Given the description of an element on the screen output the (x, y) to click on. 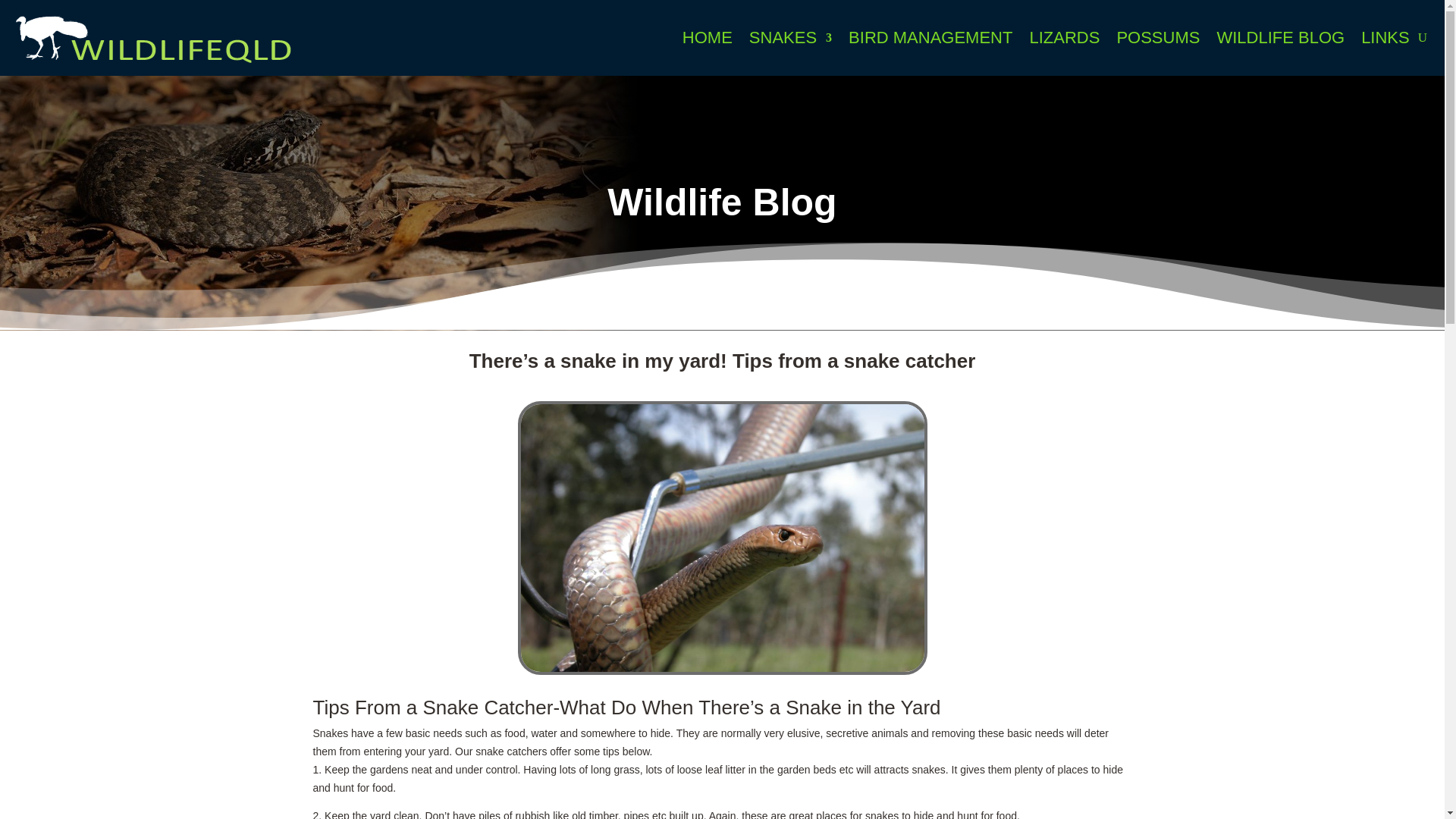
SNAKES (790, 38)
POSSUMS (1157, 38)
Eastern Brown Taken At Mt Samson (721, 538)
BIRD MANAGEMENT (929, 38)
WILDLIFE BLOG (1279, 38)
LIZARDS (1064, 38)
